Given the description of an element on the screen output the (x, y) to click on. 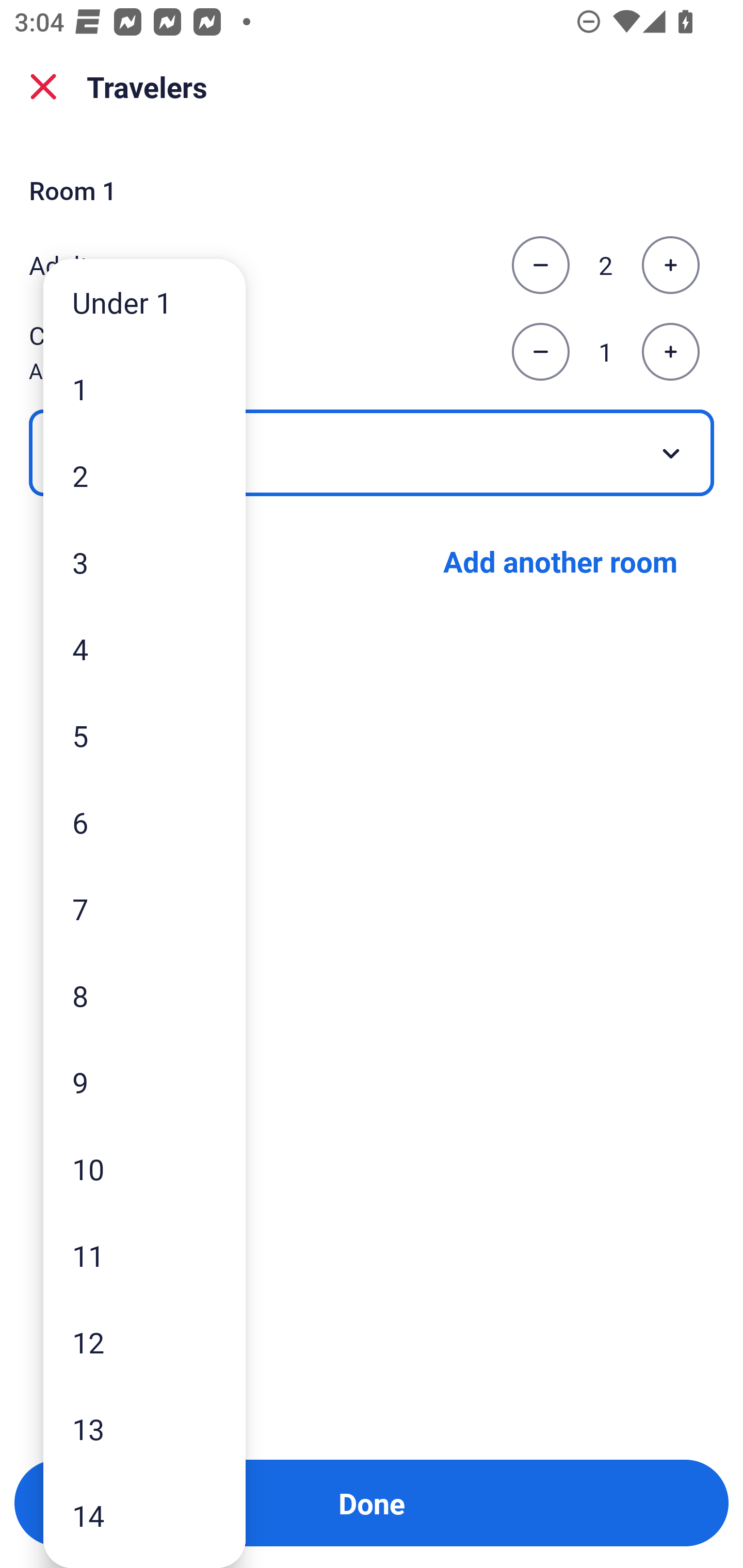
Under 1 (144, 301)
1 (144, 388)
2 (144, 475)
3 (144, 562)
4 (144, 648)
5 (144, 735)
6 (144, 822)
7 (144, 908)
8 (144, 994)
9 (144, 1081)
10 (144, 1168)
11 (144, 1255)
12 (144, 1342)
13 (144, 1429)
14 (144, 1515)
